Given the description of an element on the screen output the (x, y) to click on. 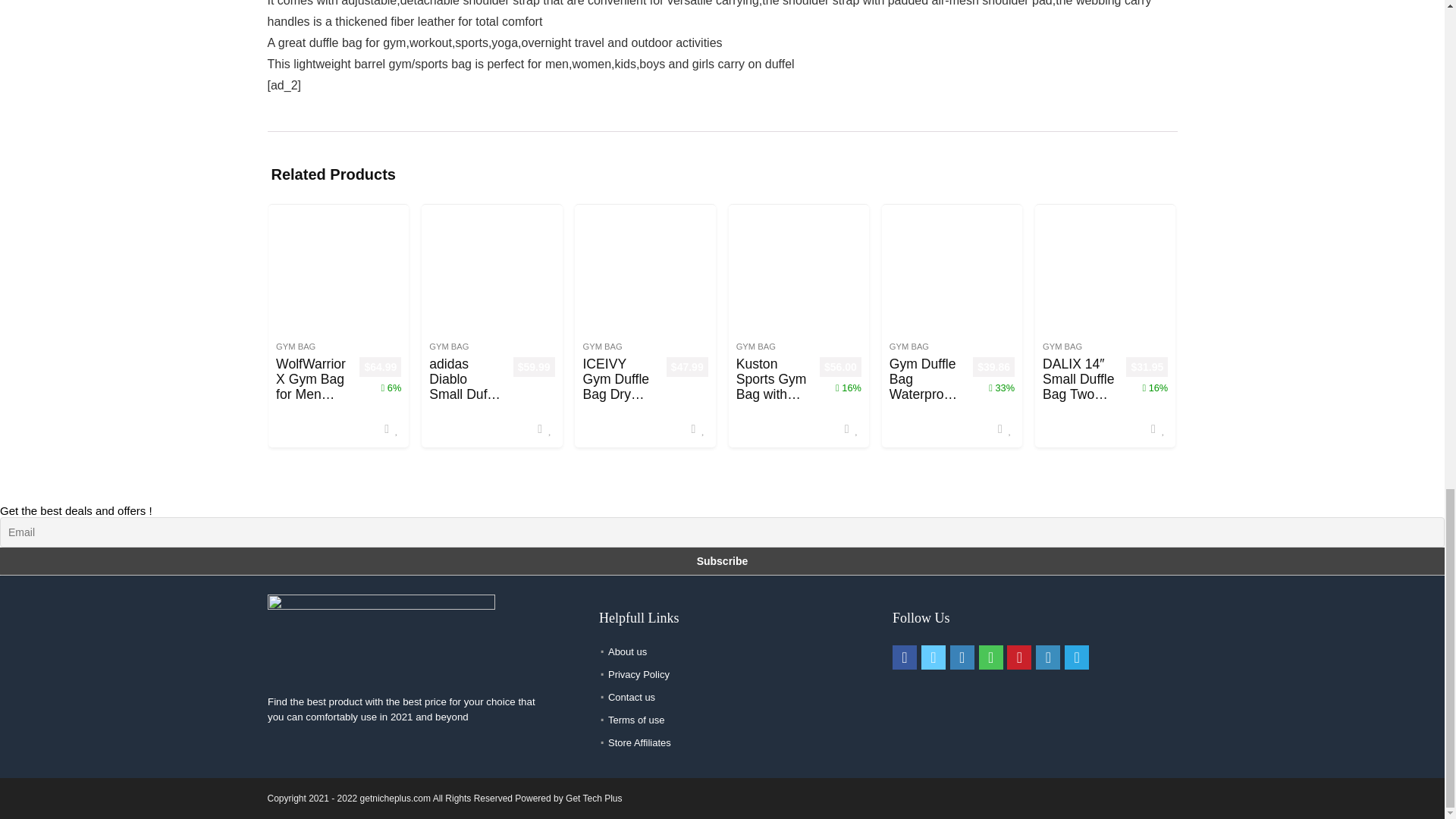
adidas Diablo Small Duffel Bag (464, 386)
GYM BAG (1061, 346)
GYM BAG (295, 346)
GYM BAG (601, 346)
GYM BAG (448, 346)
GYM BAG (908, 346)
GYM BAG (756, 346)
